Given the description of an element on the screen output the (x, y) to click on. 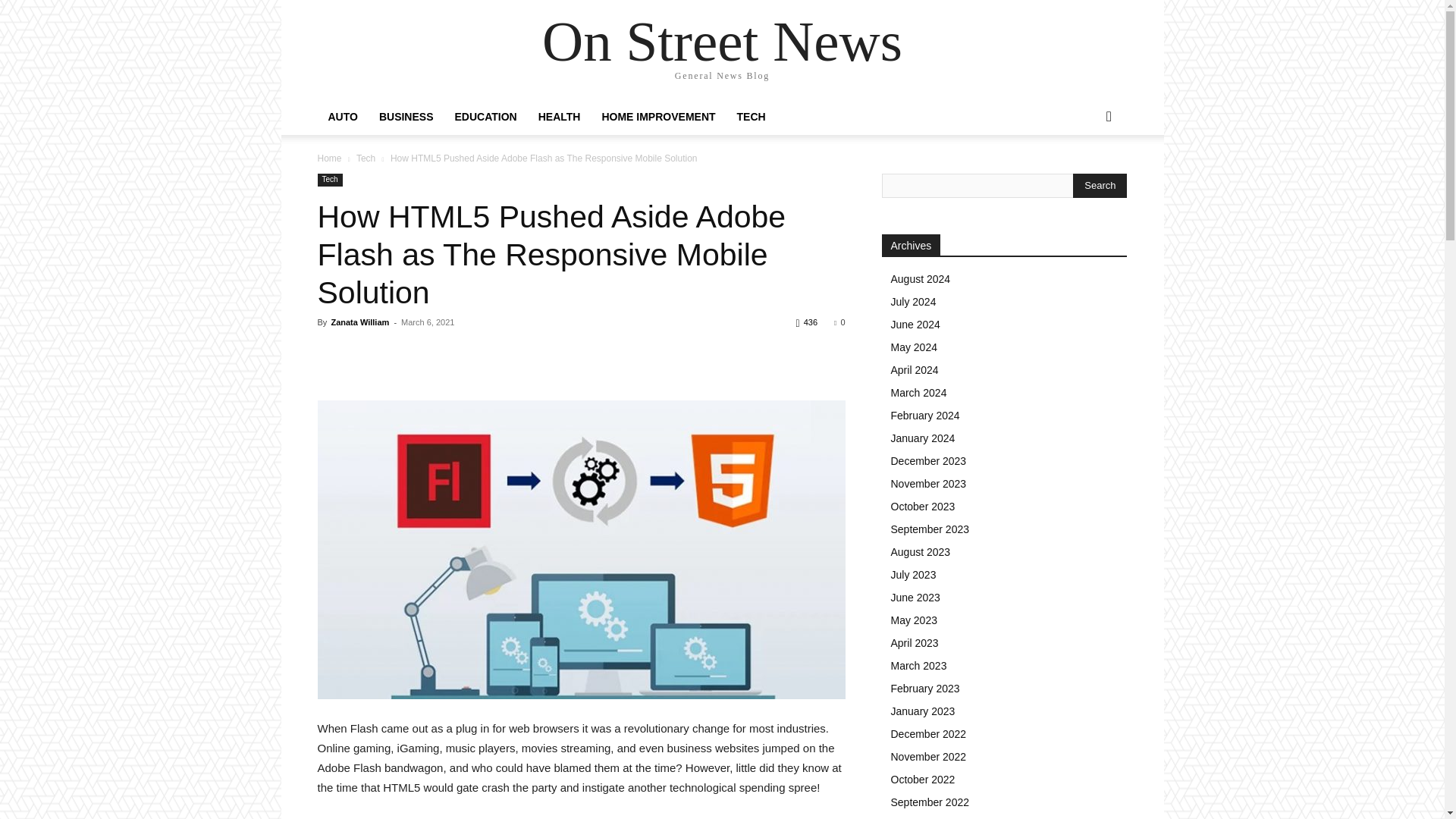
Search (1099, 185)
Search (1085, 177)
TECH (751, 116)
AUTO (342, 116)
BUSINESS (406, 116)
EDUCATION (485, 116)
View all posts in Tech (365, 158)
Tech (365, 158)
Home (328, 158)
